Given the description of an element on the screen output the (x, y) to click on. 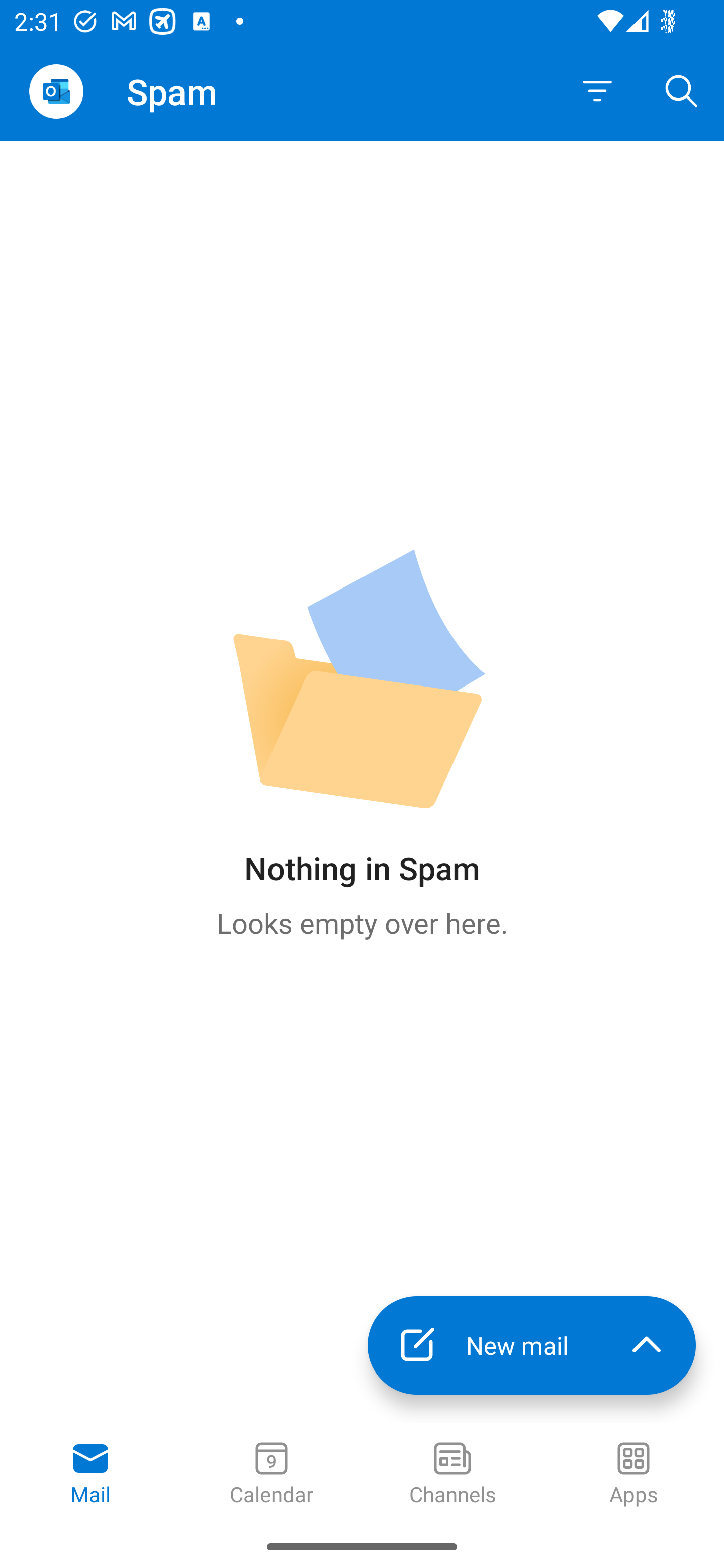
Search, ,  (681, 90)
Open Navigation Drawer (55, 91)
Filter (597, 91)
New mail (481, 1344)
launch the extended action menu (646, 1344)
Calendar (271, 1474)
Channels (452, 1474)
Apps (633, 1474)
